Given the description of an element on the screen output the (x, y) to click on. 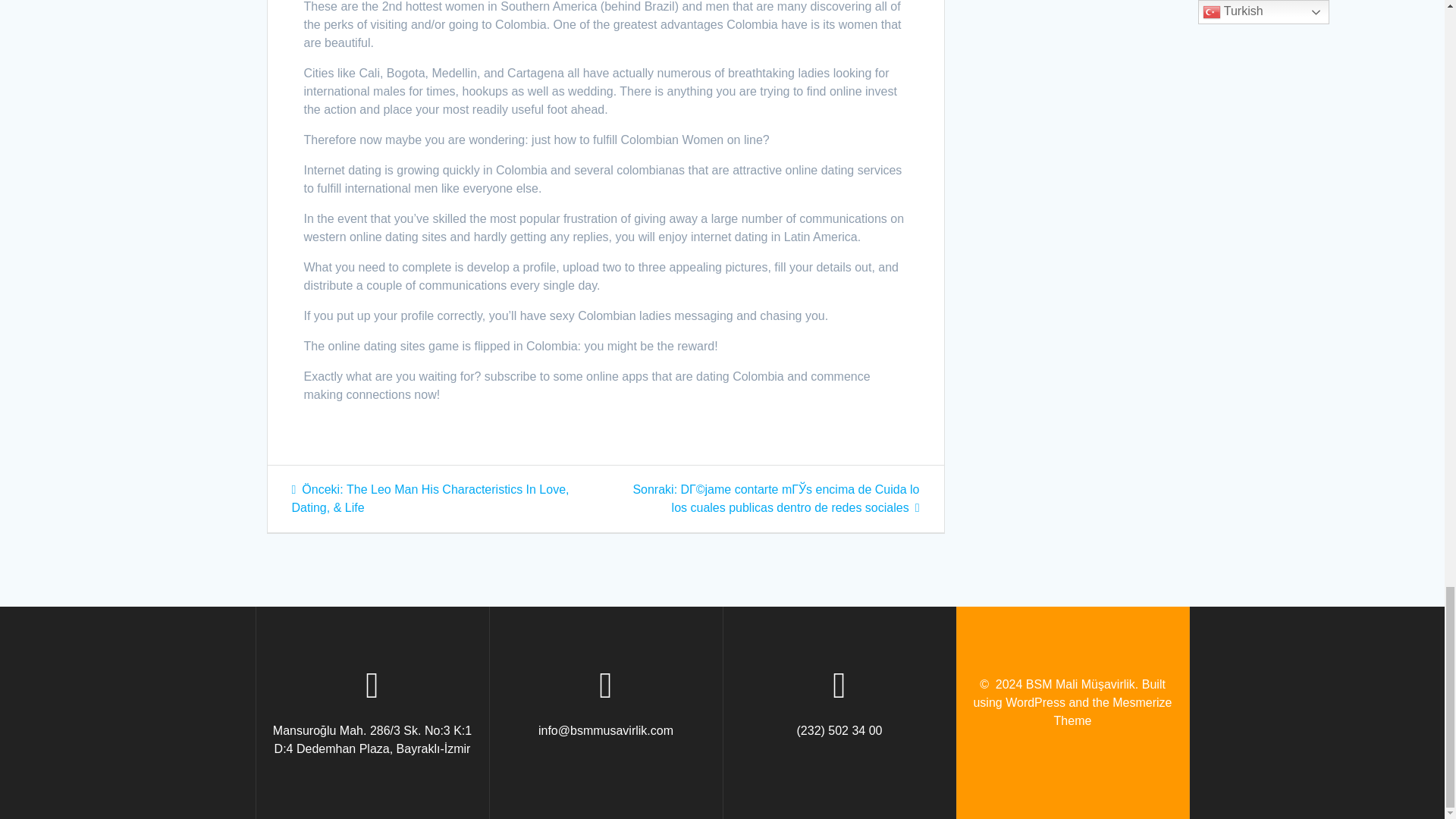
Mesmerize Theme (1113, 711)
